Given the description of an element on the screen output the (x, y) to click on. 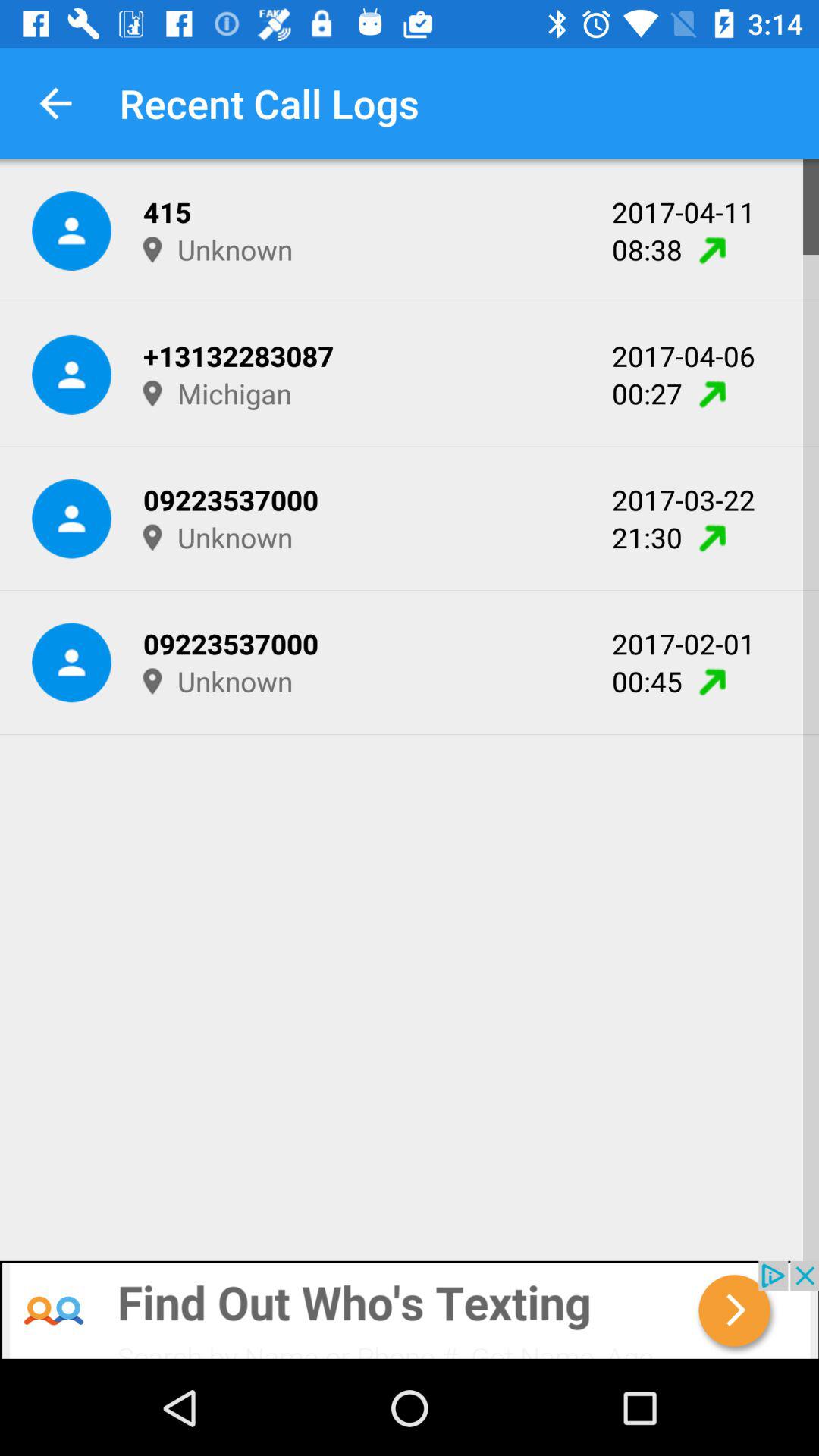
see advertisement (409, 1310)
